Given the description of an element on the screen output the (x, y) to click on. 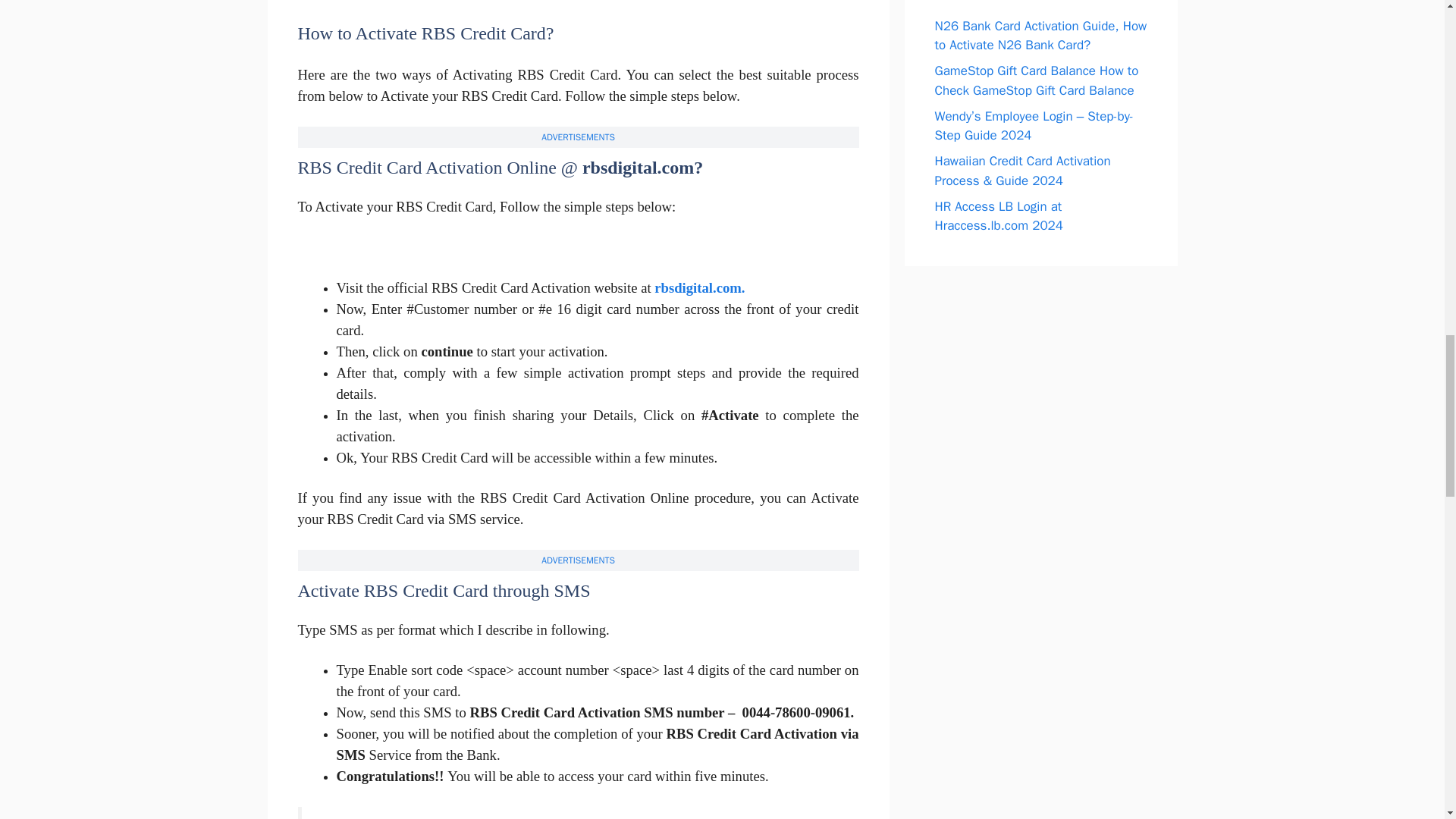
rbsdigital.com. (698, 287)
ADVERTISEMENTS (577, 560)
ADVERTISEMENTS (577, 137)
